Given the description of an element on the screen output the (x, y) to click on. 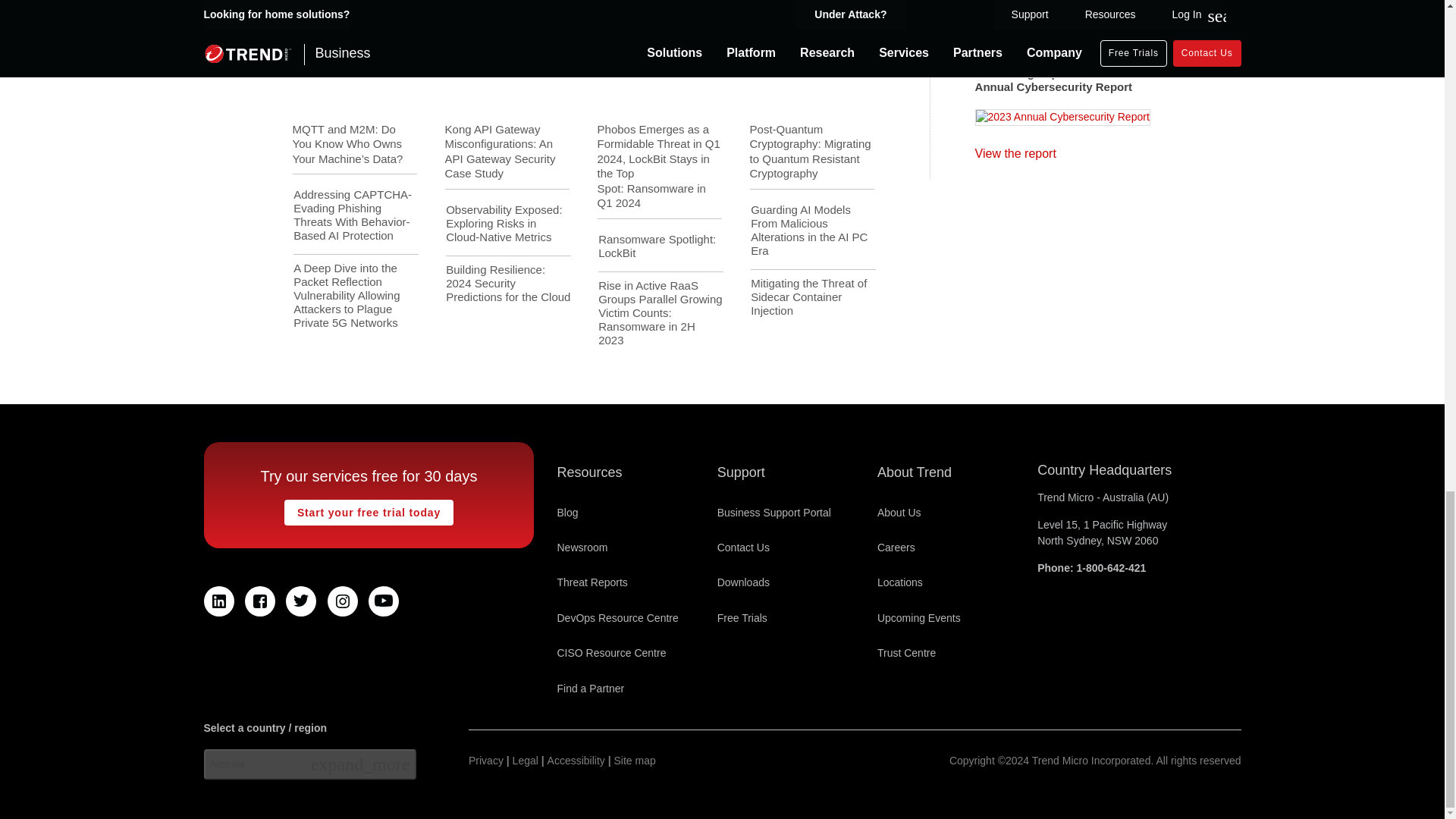
Accessibility (576, 760)
privacy (485, 760)
Site map (635, 760)
Legal (525, 760)
